Given the description of an element on the screen output the (x, y) to click on. 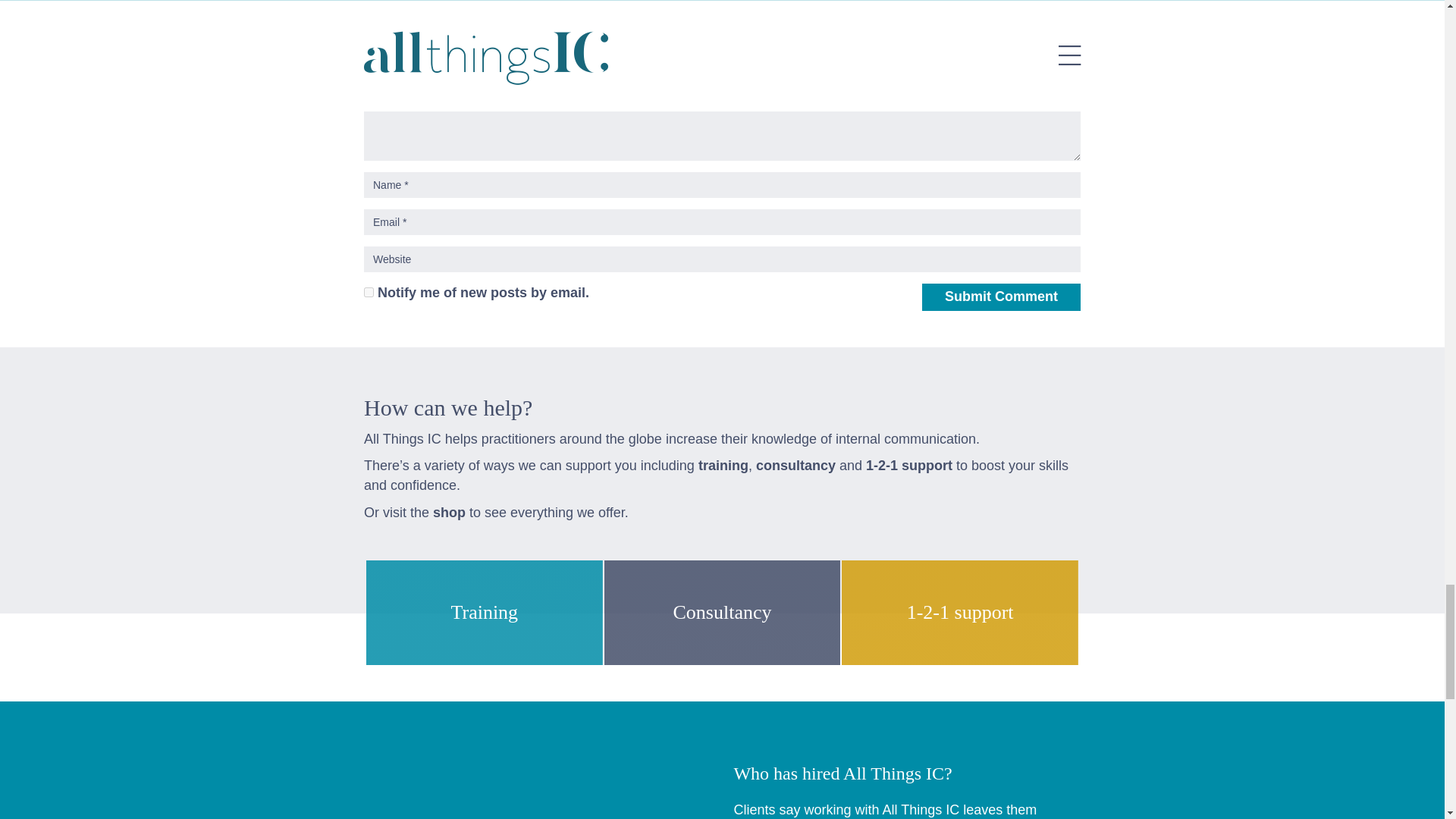
subscribe (369, 292)
Submit Comment (1000, 297)
